Given the description of an element on the screen output the (x, y) to click on. 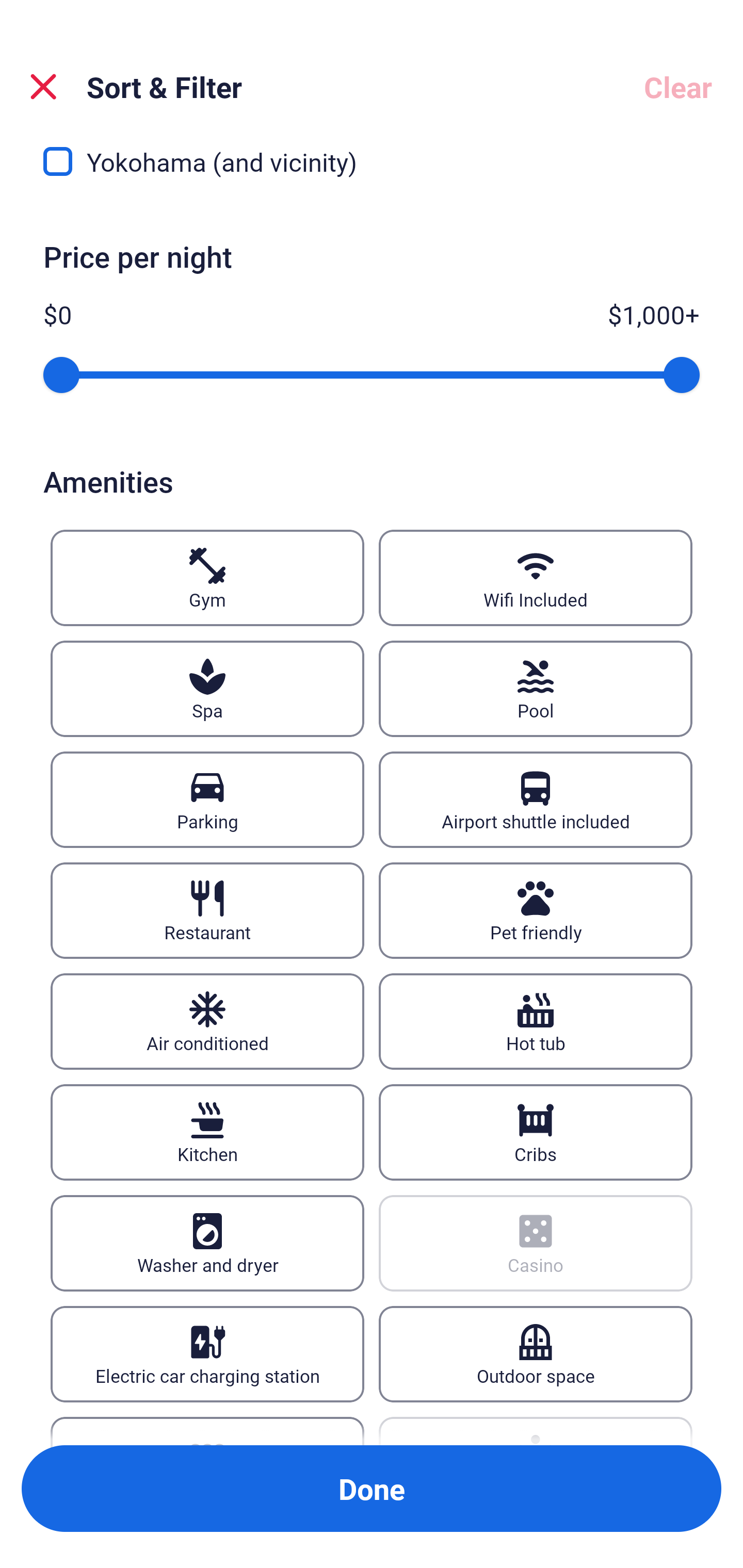
Close Sort and Filter (43, 86)
Clear (677, 86)
Yokohama (and vicinity), Yokohama (and vicinity) (371, 167)
Gym (207, 577)
Wifi Included (535, 577)
Spa (207, 688)
Pool (535, 688)
Parking (207, 799)
Airport shuttle included (535, 799)
Restaurant (207, 910)
Pet friendly (535, 910)
Air conditioned (207, 1021)
Hot tub (535, 1021)
Kitchen (207, 1131)
Cribs (535, 1131)
Washer and dryer (207, 1243)
Casino (535, 1243)
Electric car charging station (207, 1353)
Outdoor space (535, 1353)
Apply and close Sort and Filter Done (371, 1488)
